Given the description of an element on the screen output the (x, y) to click on. 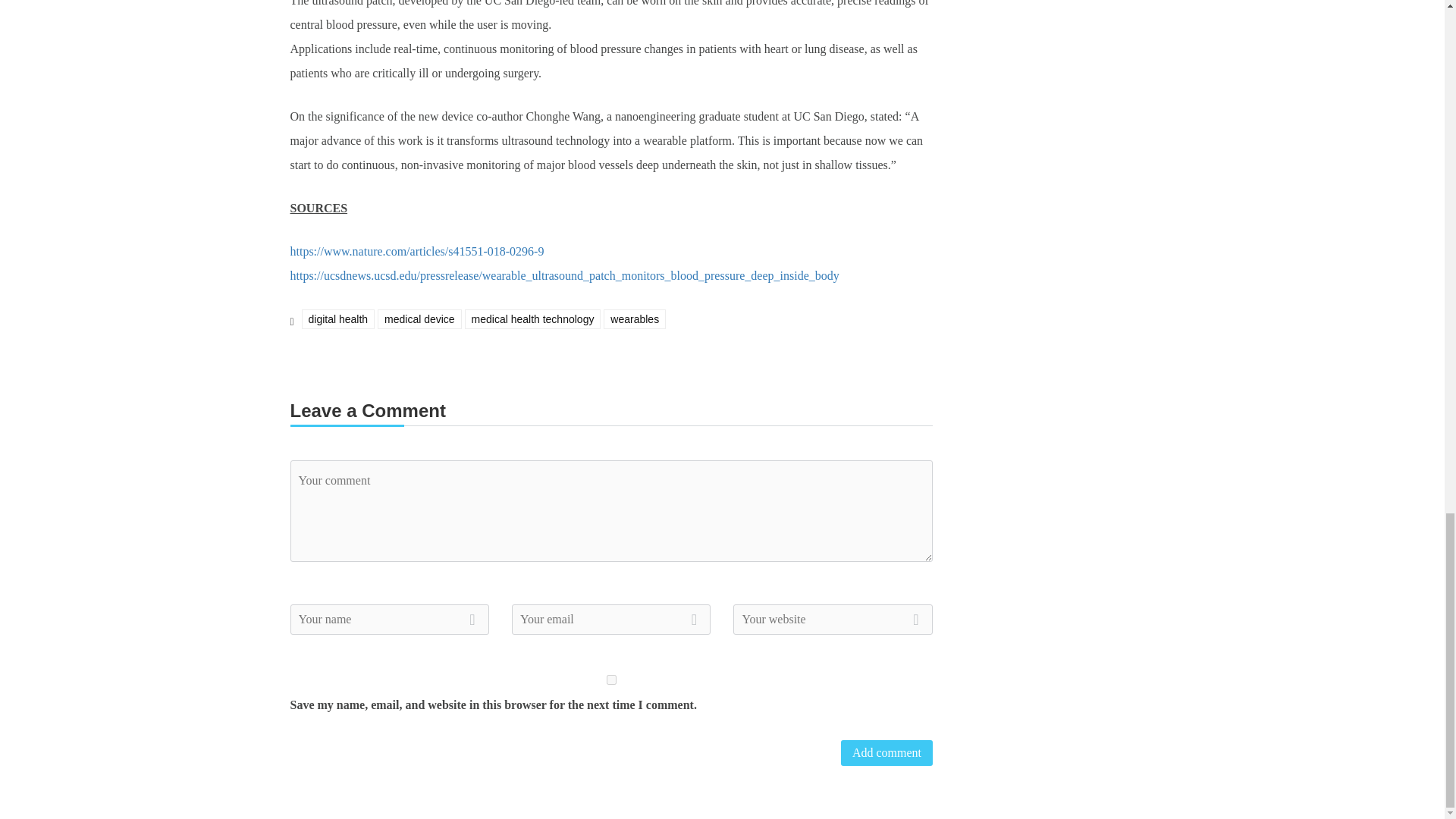
digital health (338, 319)
medical health technology (532, 319)
yes (611, 679)
medical device (419, 319)
wearables (634, 319)
Add comment (887, 752)
Add comment (887, 752)
